Given the description of an element on the screen output the (x, y) to click on. 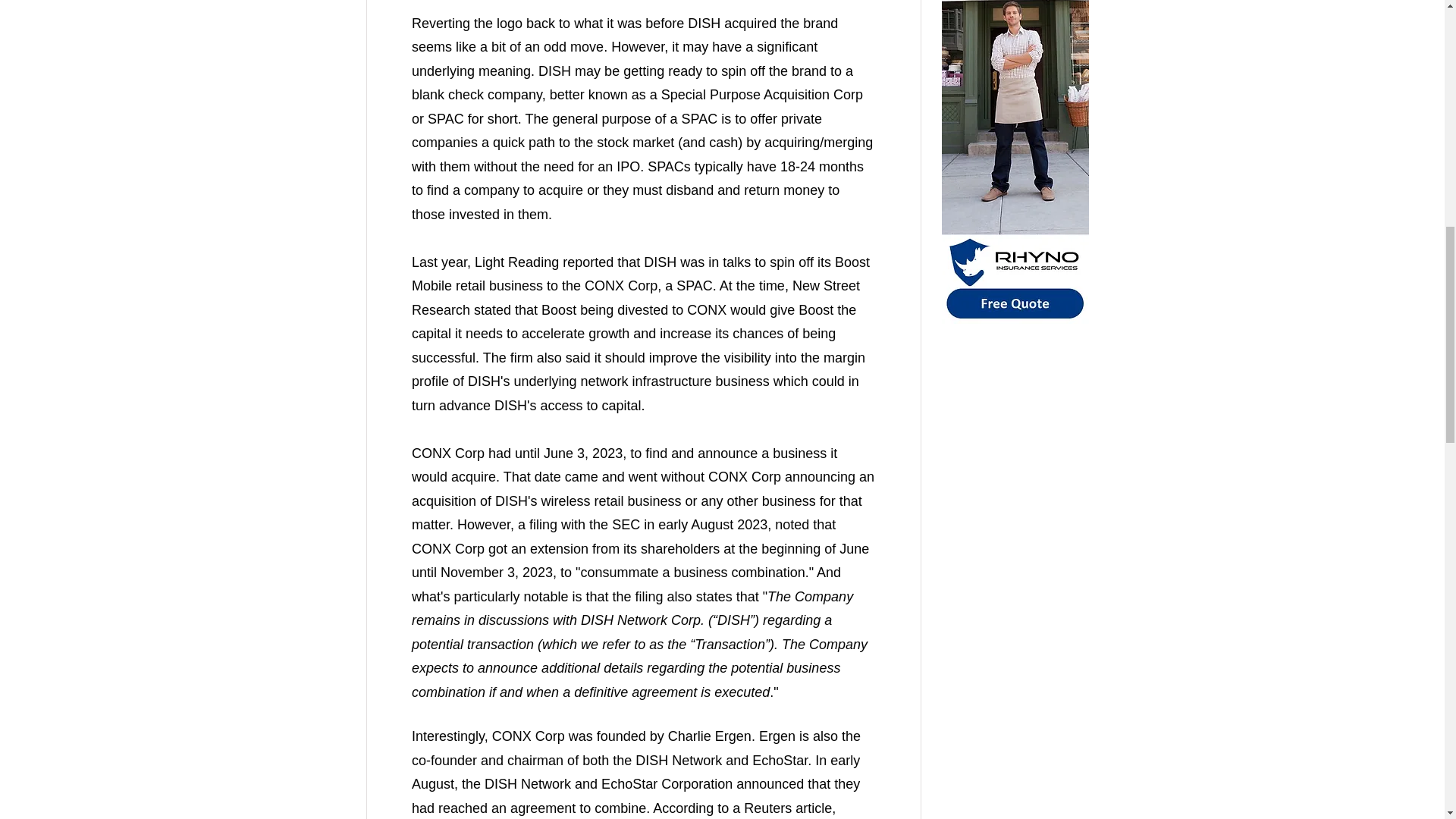
Light Reading reported (543, 262)
reached an agreement to combine (542, 807)
Reuters article (787, 807)
New Street Research (636, 297)
filing with the SEC (584, 524)
